Given the description of an element on the screen output the (x, y) to click on. 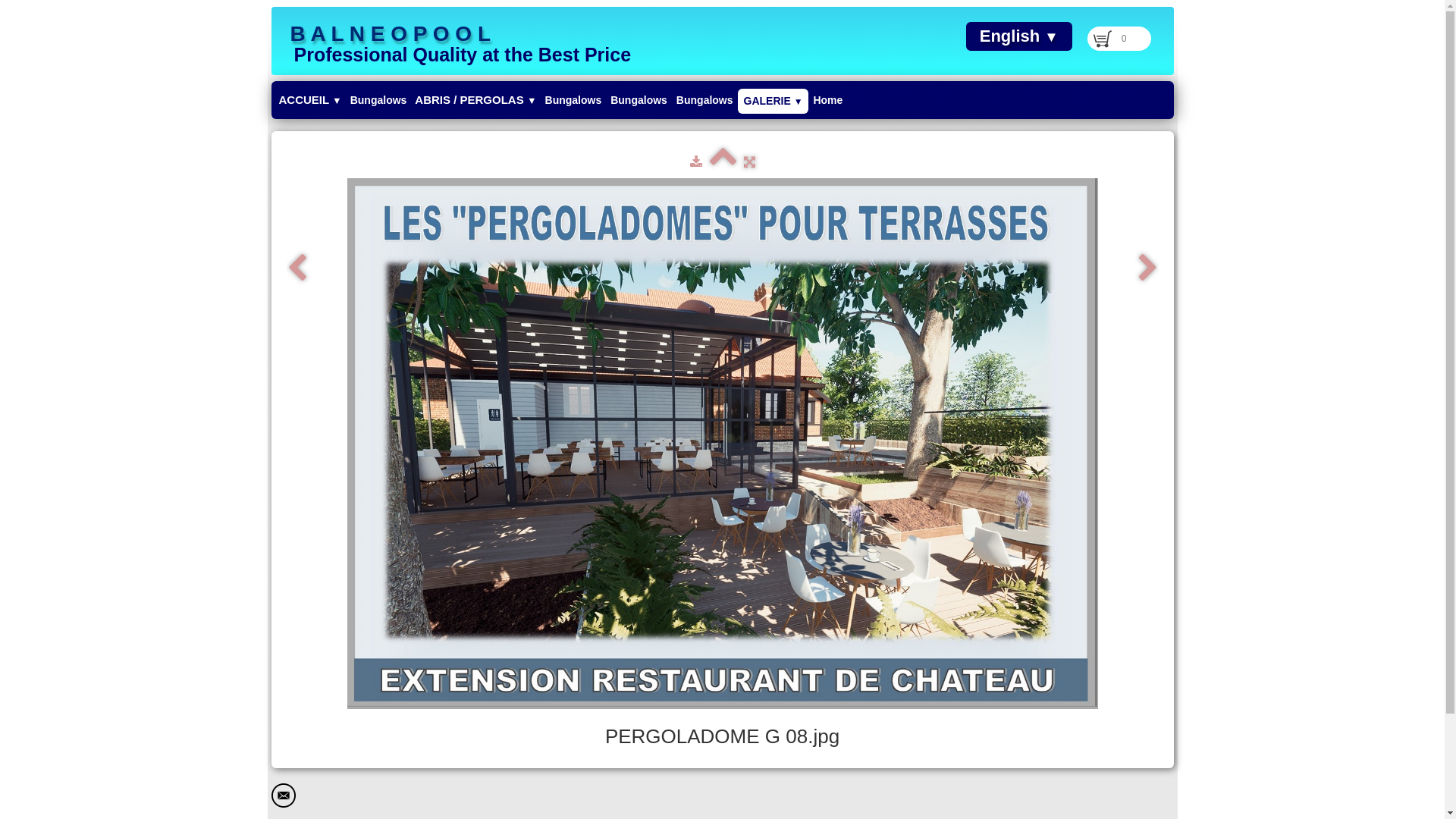
Next Element type: hover (1147, 269)
B A L N E O P O O L
Professional Quality at the Best Price Element type: text (457, 40)
Bungalows Element type: text (573, 99)
Index Element type: hover (722, 161)
Previous Element type: hover (296, 269)
Bungalows Element type: text (638, 99)
Bungalows Element type: text (704, 99)
Download Element type: hover (696, 161)
Fullscreen Element type: hover (748, 161)
Home Element type: text (827, 99)
0 Element type: text (1119, 38)
Bungalows Element type: text (378, 99)
